Given the description of an element on the screen output the (x, y) to click on. 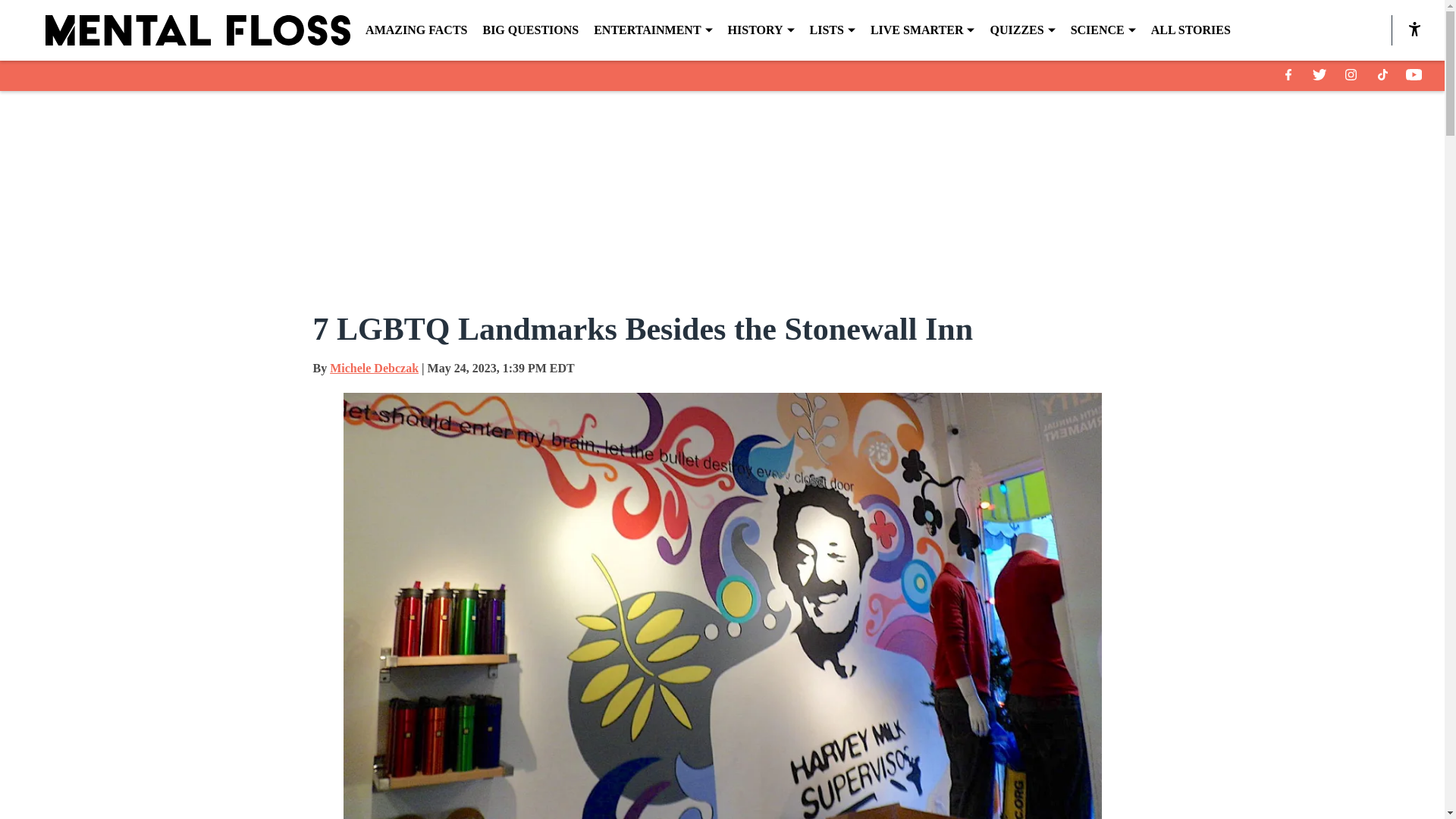
AMAZING FACTS (416, 30)
ALL STORIES (1190, 30)
BIG QUESTIONS (529, 30)
